Given the description of an element on the screen output the (x, y) to click on. 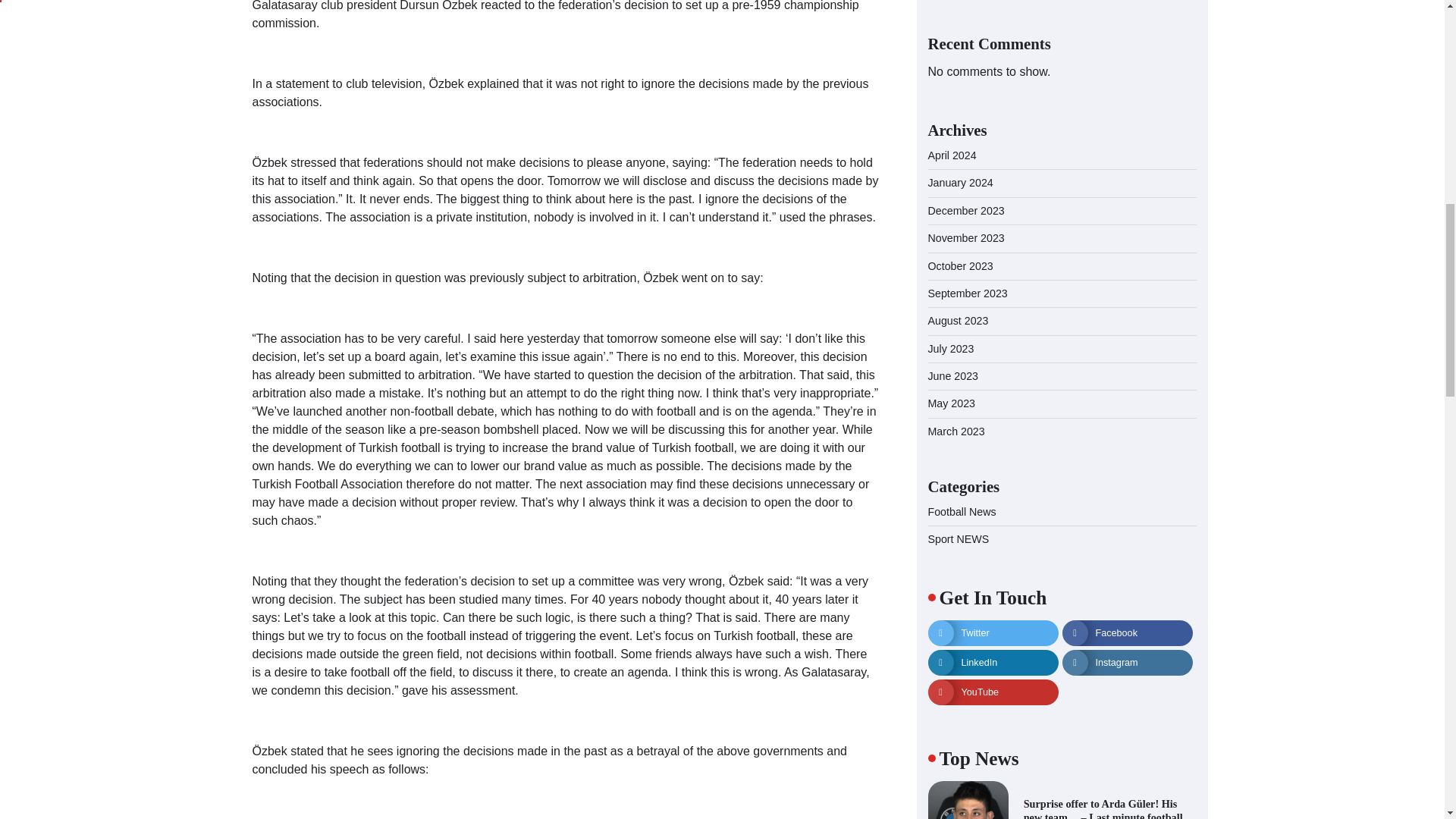
January 2024 (960, 67)
August 2023 (958, 205)
July 2023 (951, 233)
June 2023 (953, 260)
October 2023 (960, 150)
December 2023 (966, 95)
April 2024 (952, 39)
November 2023 (966, 122)
September 2023 (967, 177)
